Given the description of an element on the screen output the (x, y) to click on. 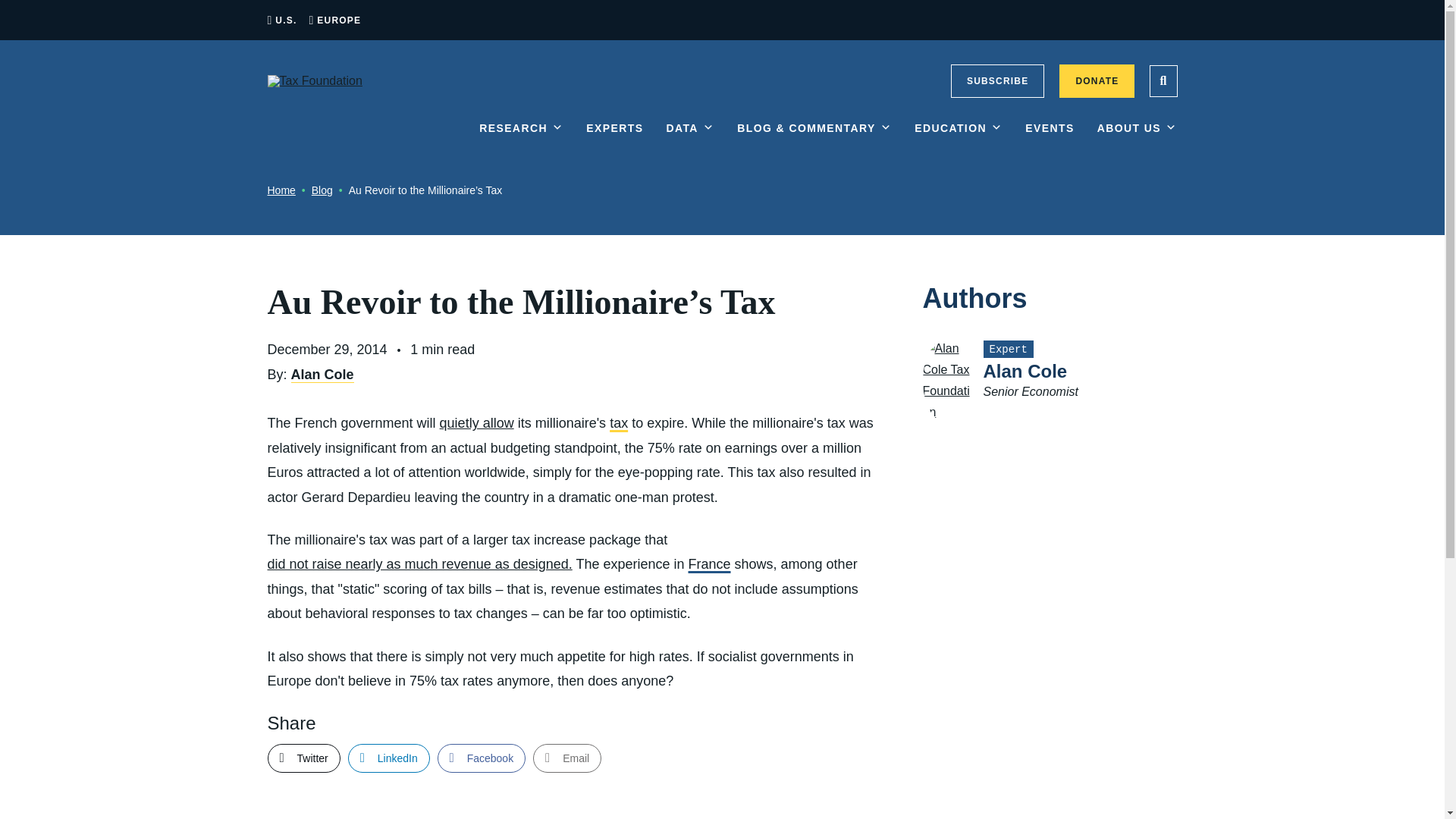
SUBSCRIBE (996, 80)
DONATE (1096, 80)
U.S. (286, 20)
RESEARCH (521, 140)
EXPERTS (614, 140)
Tax Foundation (313, 80)
DATA (689, 140)
EUROPE (339, 20)
